Given the description of an element on the screen output the (x, y) to click on. 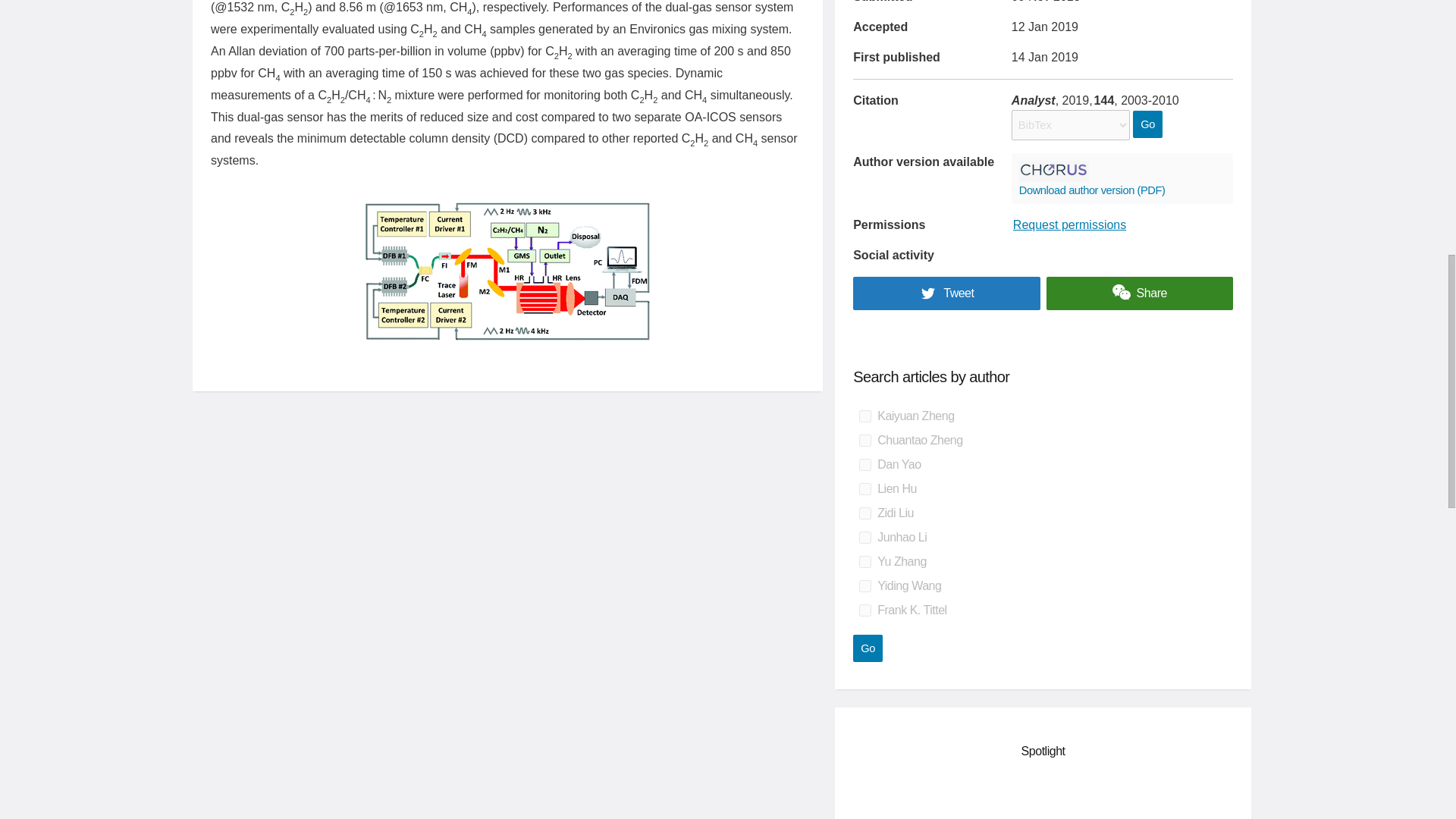
on (864, 512)
Go (867, 647)
on (864, 489)
3rd party ad content (1043, 798)
on (864, 610)
on (864, 585)
on (864, 464)
on (864, 416)
Go (867, 647)
on (864, 537)
